Given the description of an element on the screen output the (x, y) to click on. 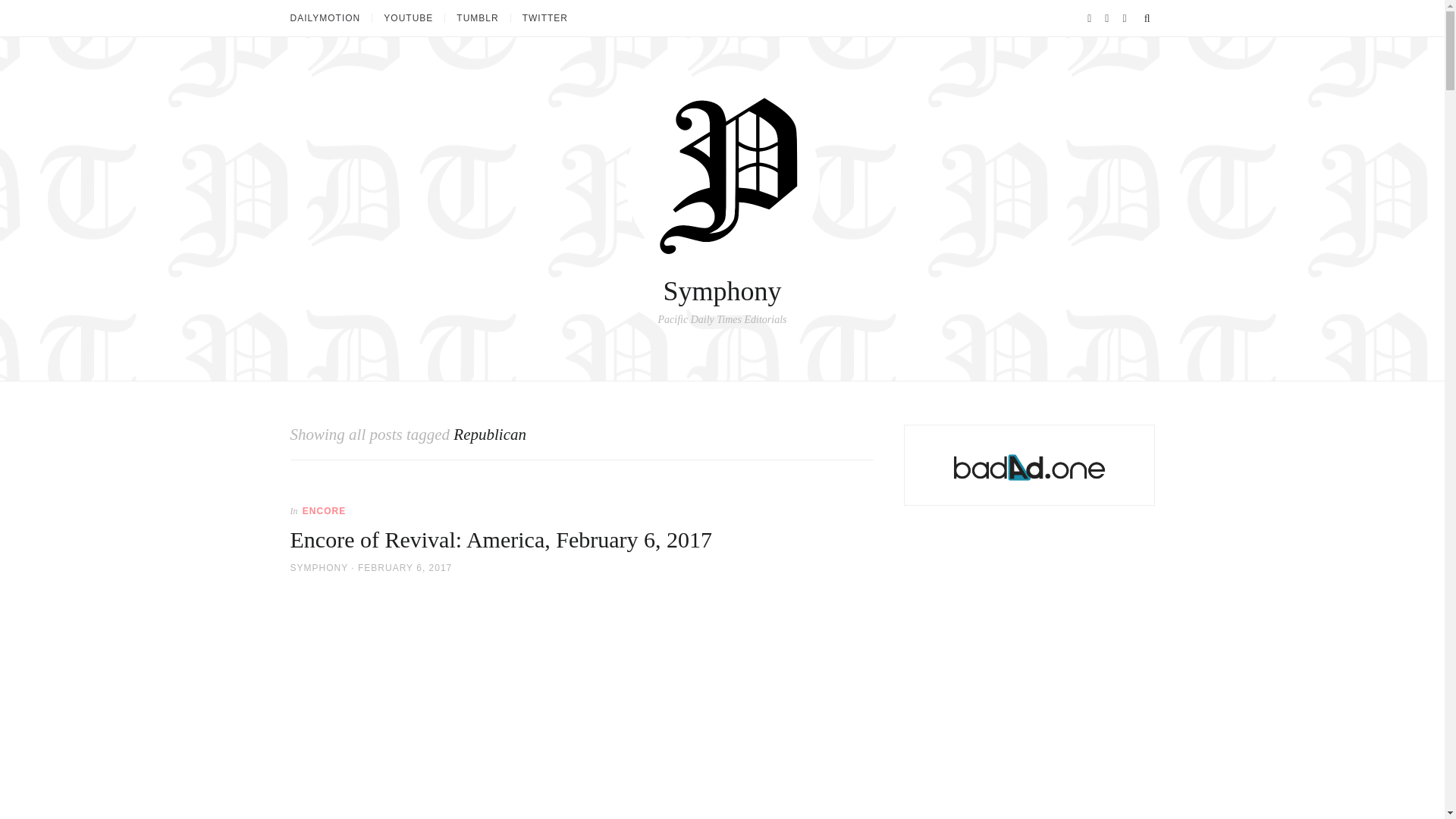
FEBRUARY 6, 2017 (404, 567)
Encore of Revival: America, February 6, 2017 (500, 539)
ENCORE (324, 511)
Symphony (721, 291)
Unannoying advertising (1029, 467)
SYMPHONY (318, 567)
TWITTER (545, 17)
YOUTUBE (407, 17)
DAILYMOTION (330, 17)
TUMBLR (476, 17)
